Given the description of an element on the screen output the (x, y) to click on. 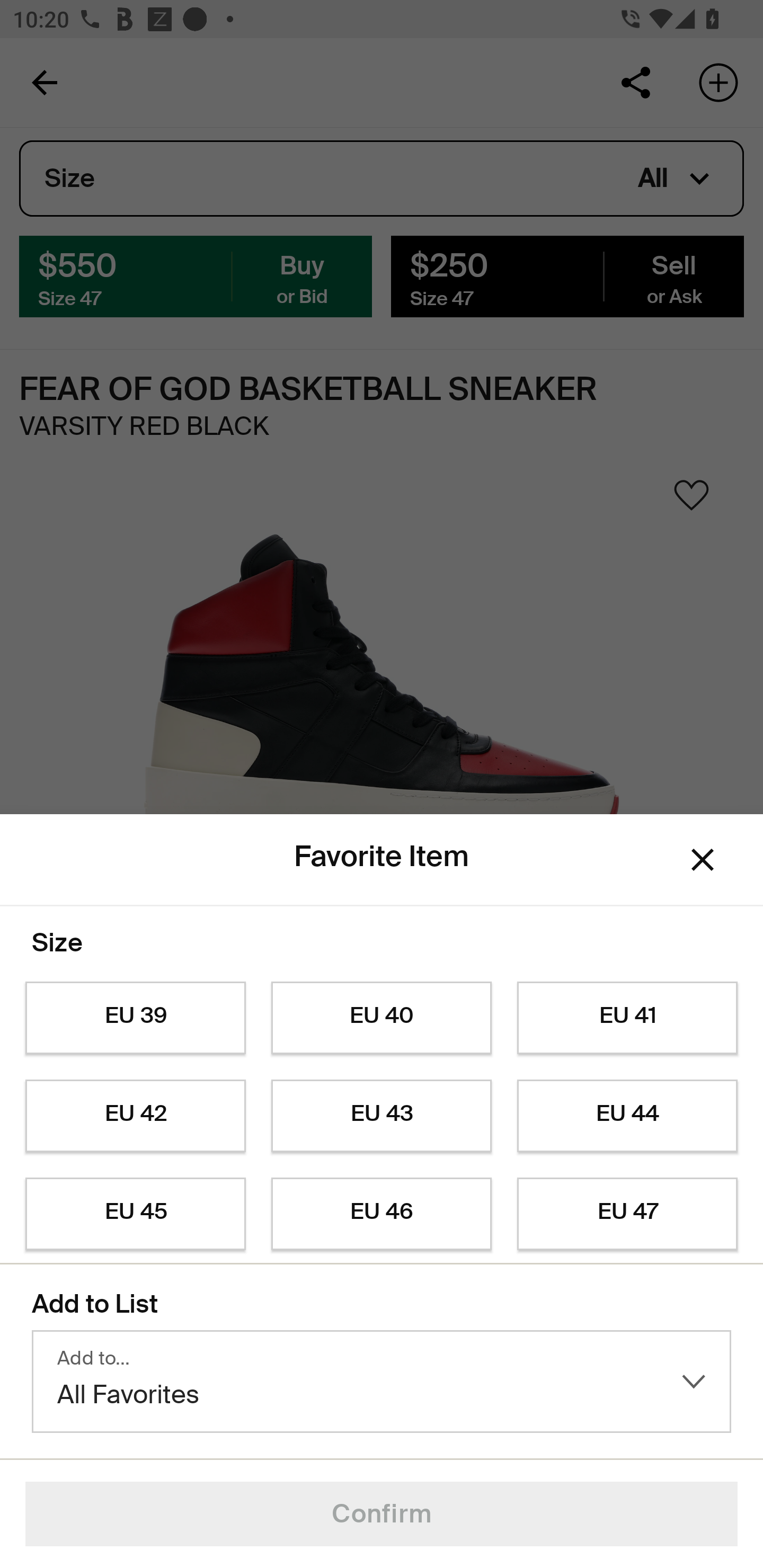
Dismiss (702, 859)
EU 39 (135, 1018)
EU 40 (381, 1018)
EU 41 (627, 1018)
EU 42 (135, 1116)
EU 43 (381, 1116)
EU 44 (627, 1116)
EU 45 (135, 1214)
EU 46 (381, 1214)
EU 47 (627, 1214)
Add to… All Favorites (381, 1381)
Confirm (381, 1513)
